Given the description of an element on the screen output the (x, y) to click on. 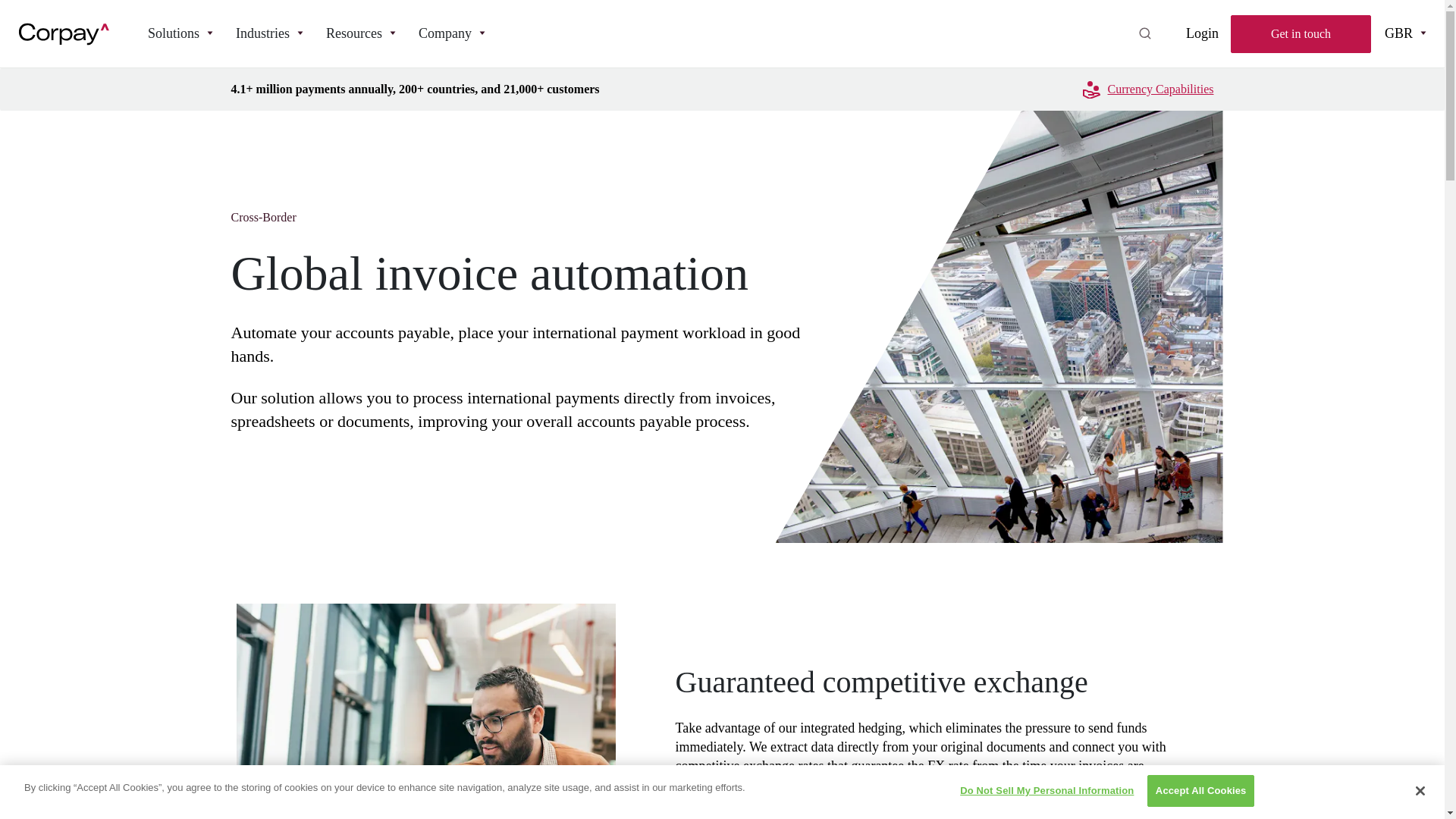
Solutions (180, 33)
Resources (360, 33)
Industries (269, 33)
Company (451, 33)
